Given the description of an element on the screen output the (x, y) to click on. 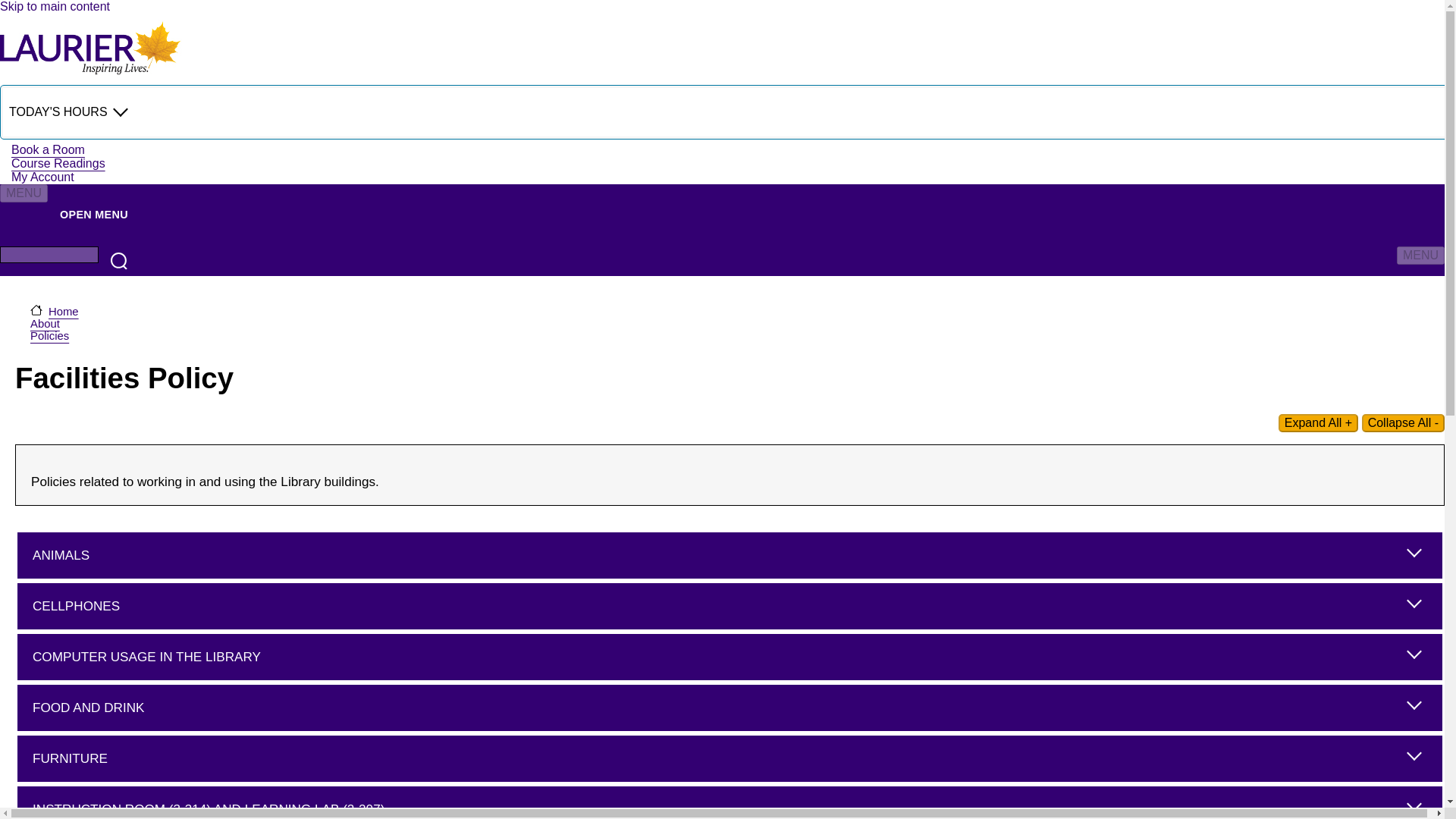
Home (94, 73)
Skip to main content (55, 6)
MENU (24, 193)
Search library website (119, 261)
